Given the description of an element on the screen output the (x, y) to click on. 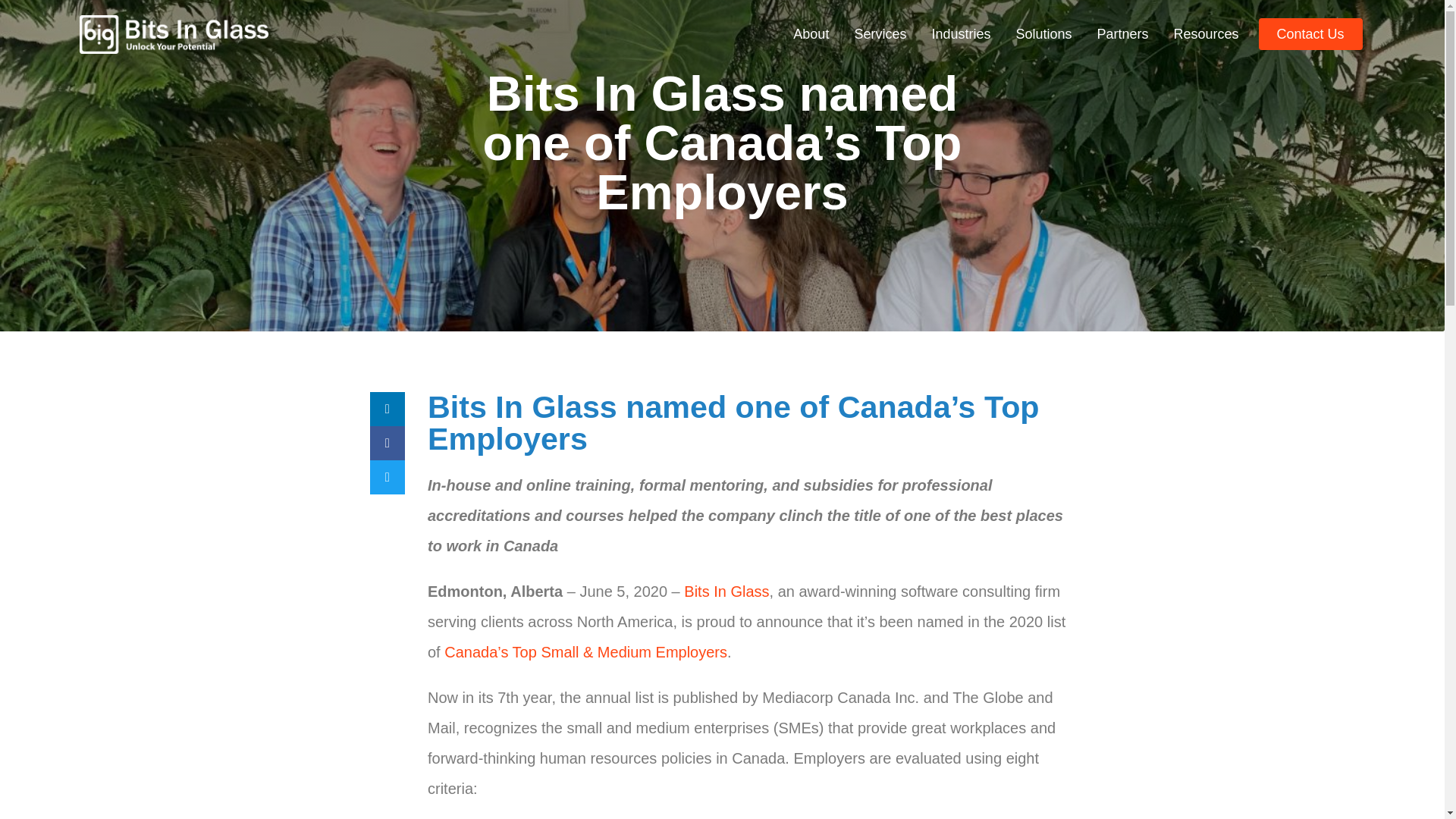
Bits In Glass (724, 591)
About (810, 33)
Solutions (1042, 33)
Contact Us (1310, 33)
Services (879, 33)
Industries (960, 33)
Resources (1206, 33)
Partners (1122, 33)
